Given the description of an element on the screen output the (x, y) to click on. 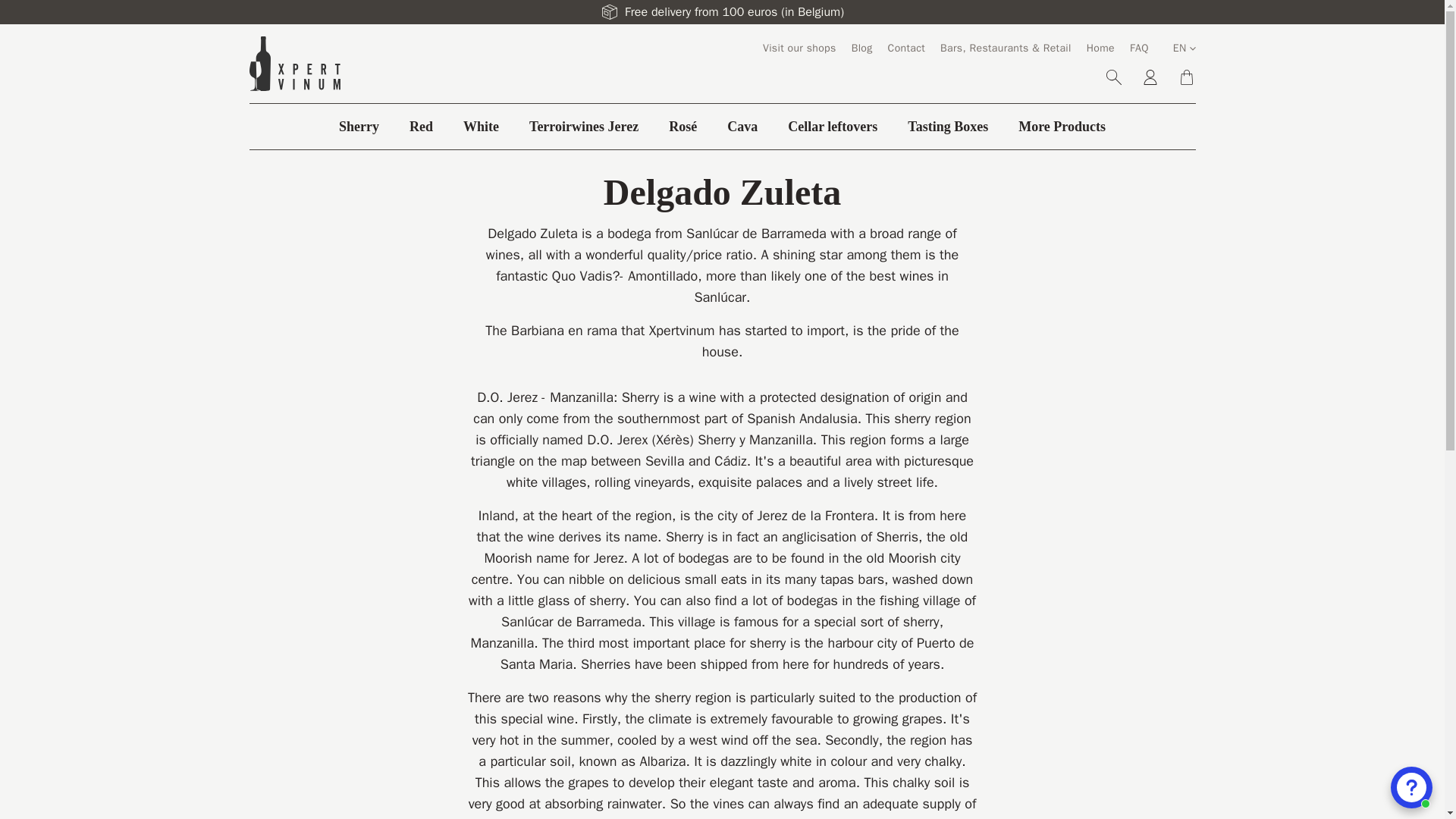
Visit our shops (798, 48)
FAQ (1138, 48)
Cellar leftovers (832, 126)
Red (420, 126)
Search (1112, 76)
Xpertvinum (293, 63)
Log in (1149, 76)
White (481, 126)
Home (1100, 48)
Cart (1185, 76)
